Given the description of an element on the screen output the (x, y) to click on. 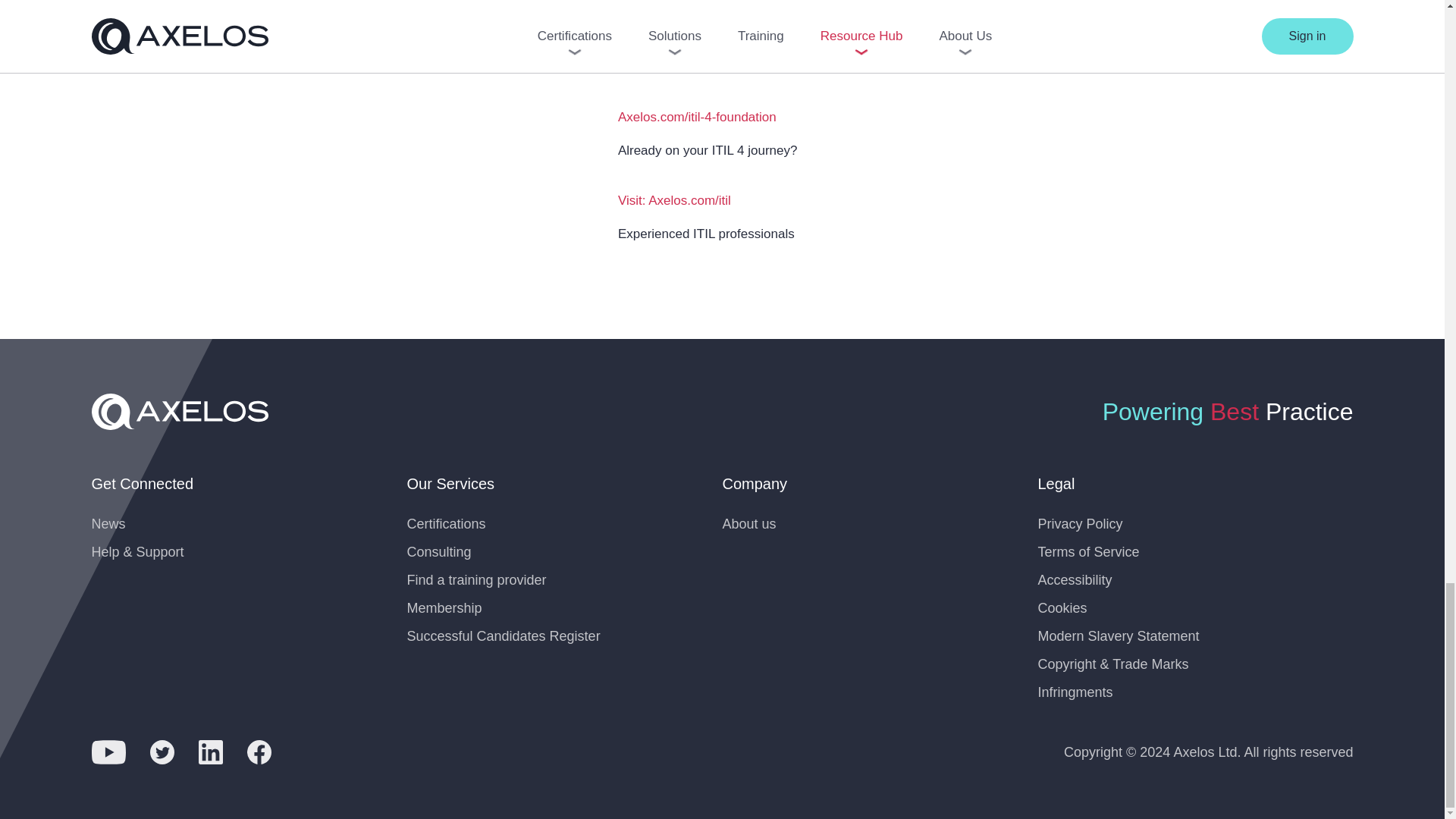
Accessibility (1074, 580)
Consulting (438, 551)
Successful Candidates Register (502, 635)
Privacy Policy (1079, 523)
Infringments (1074, 692)
Find a training provider (476, 580)
watch on demand (668, 4)
Modern Slavery Statement (1117, 635)
Cookies (1061, 607)
Membership (443, 607)
